Given the description of an element on the screen output the (x, y) to click on. 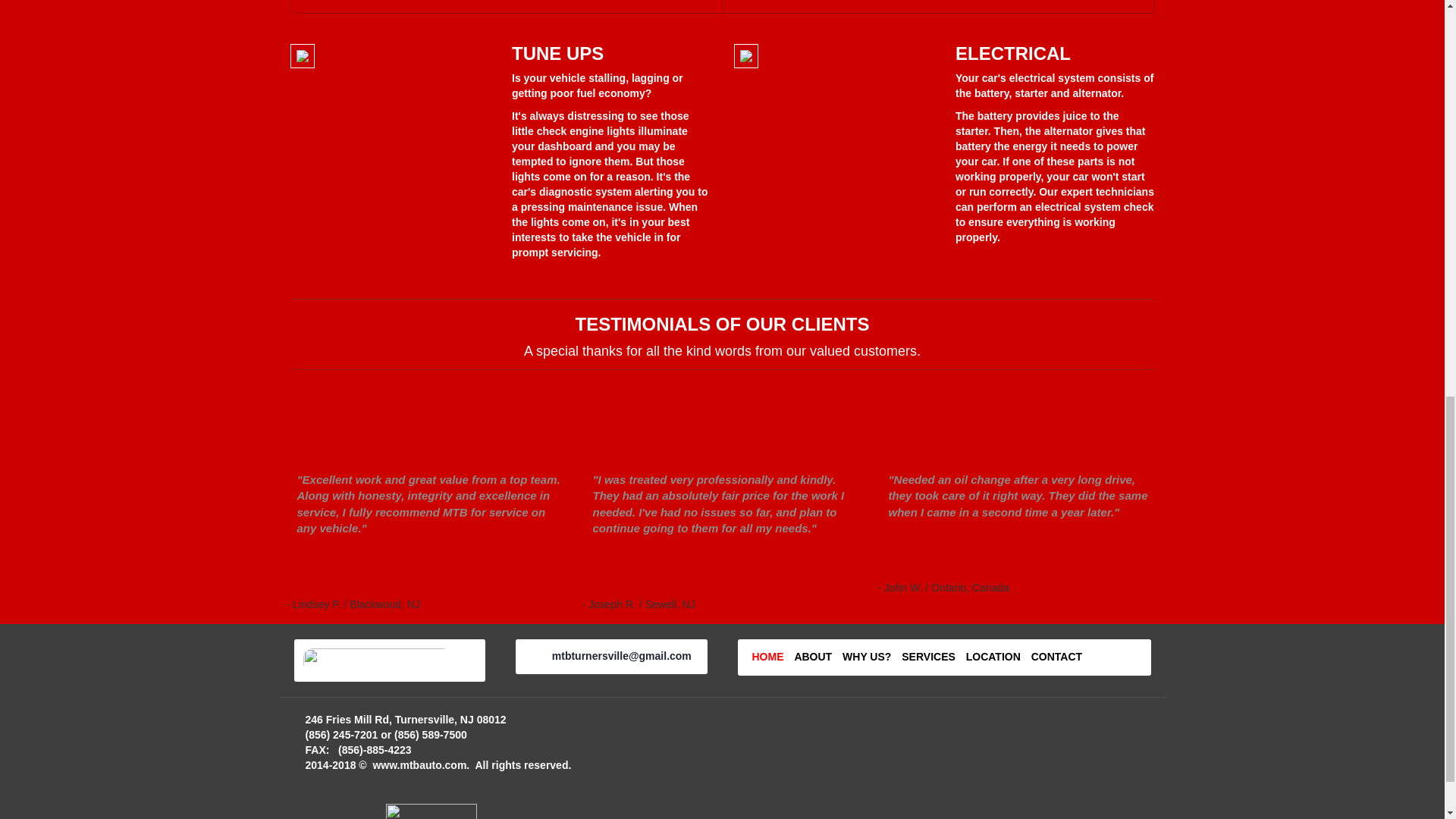
SERVICES (928, 656)
LOCATION (993, 656)
HOME (768, 656)
WHY US? (867, 656)
CONTACT (1055, 656)
ABOUT (812, 656)
